Given the description of an element on the screen output the (x, y) to click on. 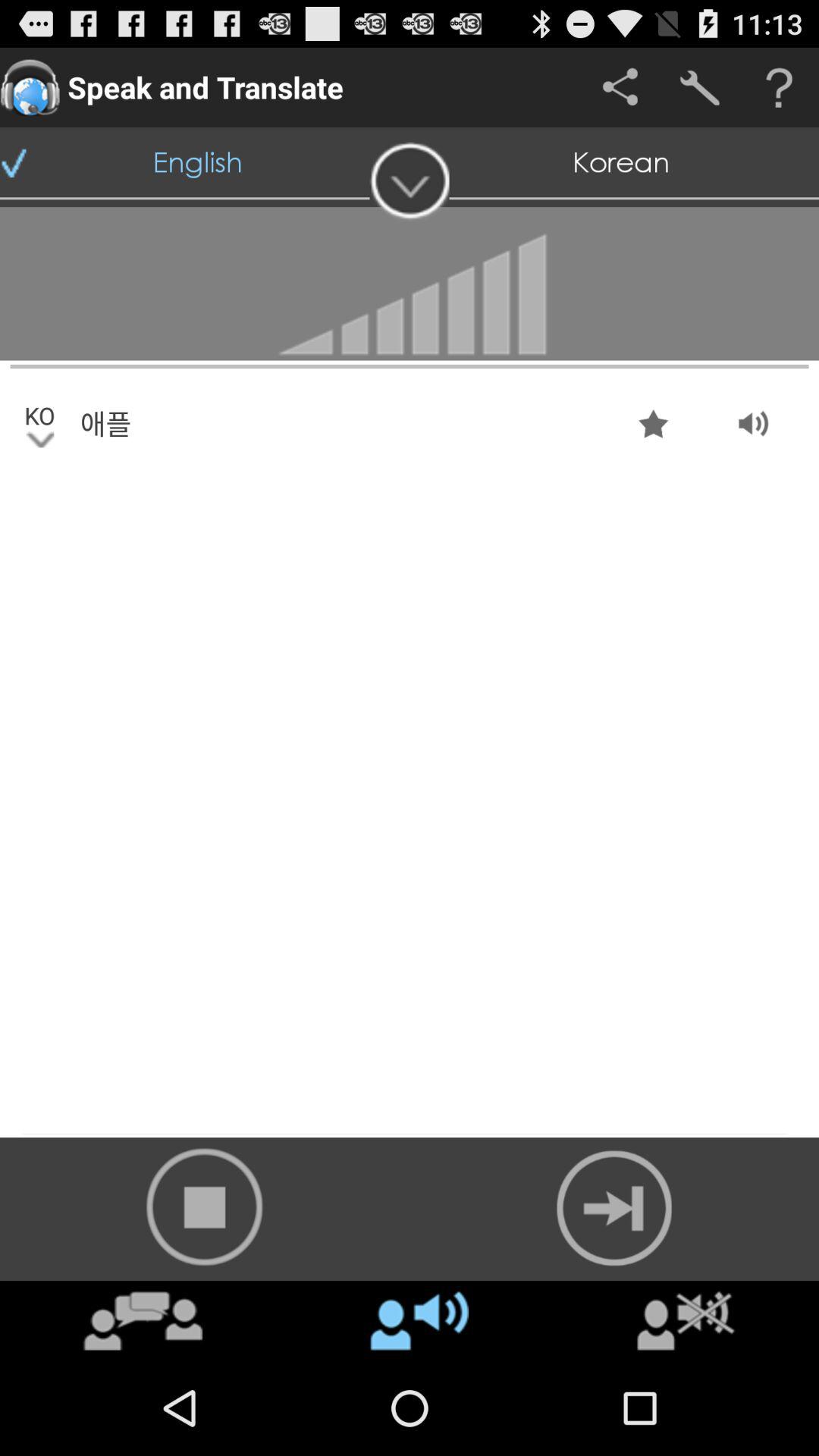
record your voice (204, 1206)
